Given the description of an element on the screen output the (x, y) to click on. 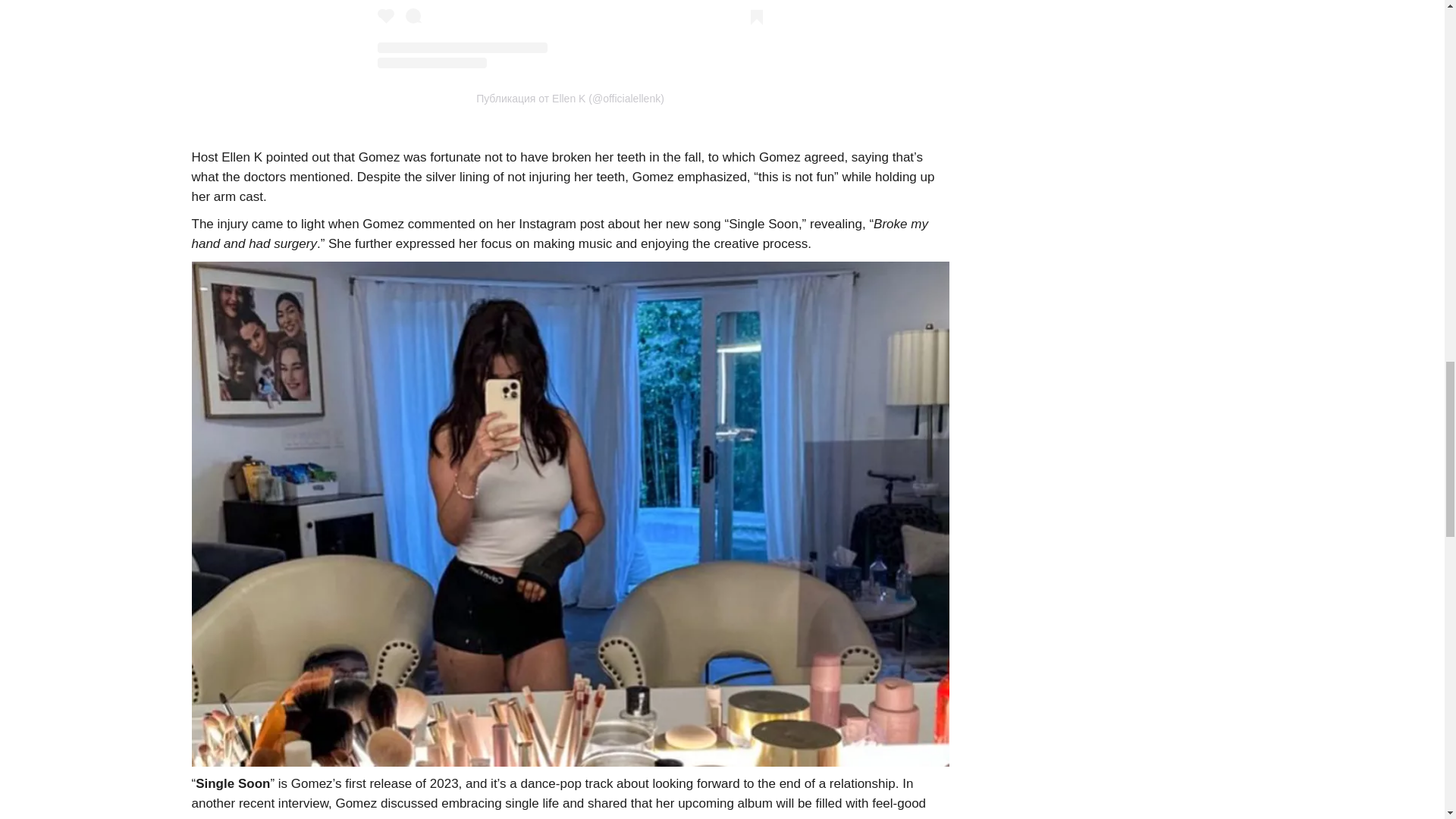
Single Soon (232, 783)
